Given the description of an element on the screen output the (x, y) to click on. 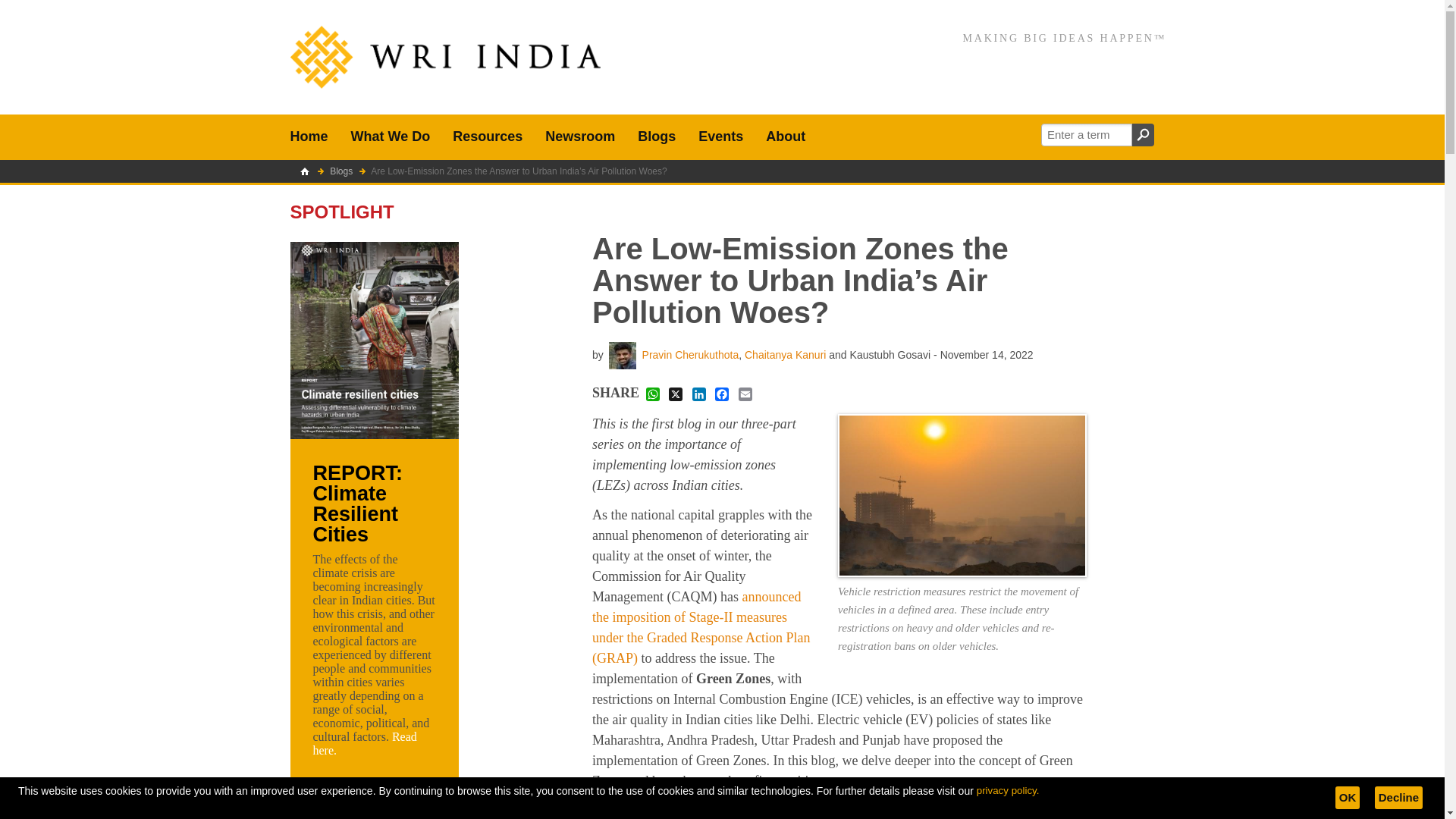
Home (444, 56)
Newsroom (580, 136)
Events (720, 136)
About (785, 136)
Resources (487, 136)
Home (309, 136)
Search (1142, 134)
What We Do (390, 136)
Skip to main content (56, 10)
Blogs (656, 136)
